Given the description of an element on the screen output the (x, y) to click on. 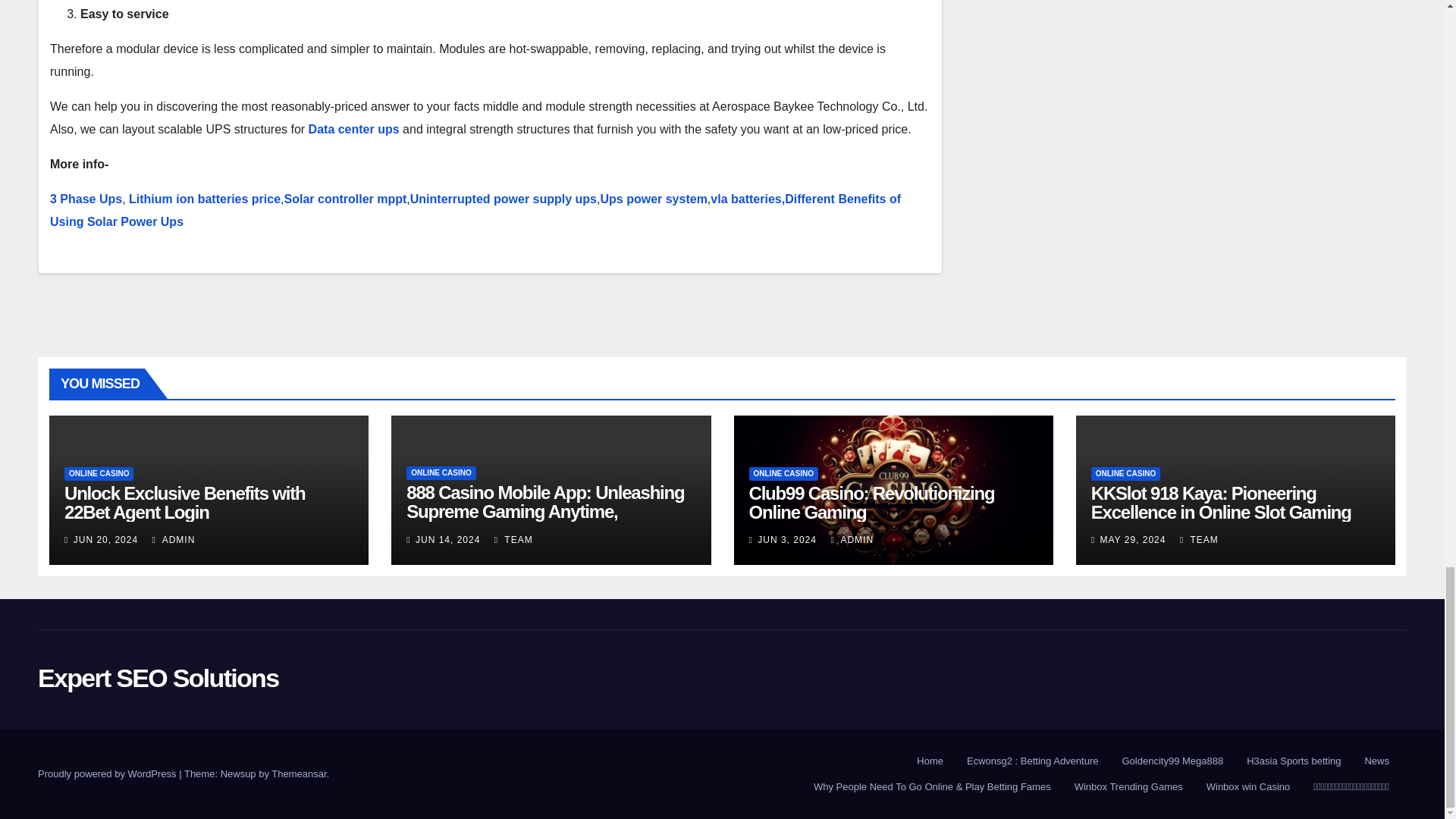
Uninterrupted power supply ups (503, 198)
Lithium ion batteries price (205, 198)
vla batteries (745, 198)
Solar controller mppt (345, 198)
ADMIN (173, 539)
3 Phase Ups (85, 198)
Data center ups (355, 128)
Home (930, 760)
